Given the description of an element on the screen output the (x, y) to click on. 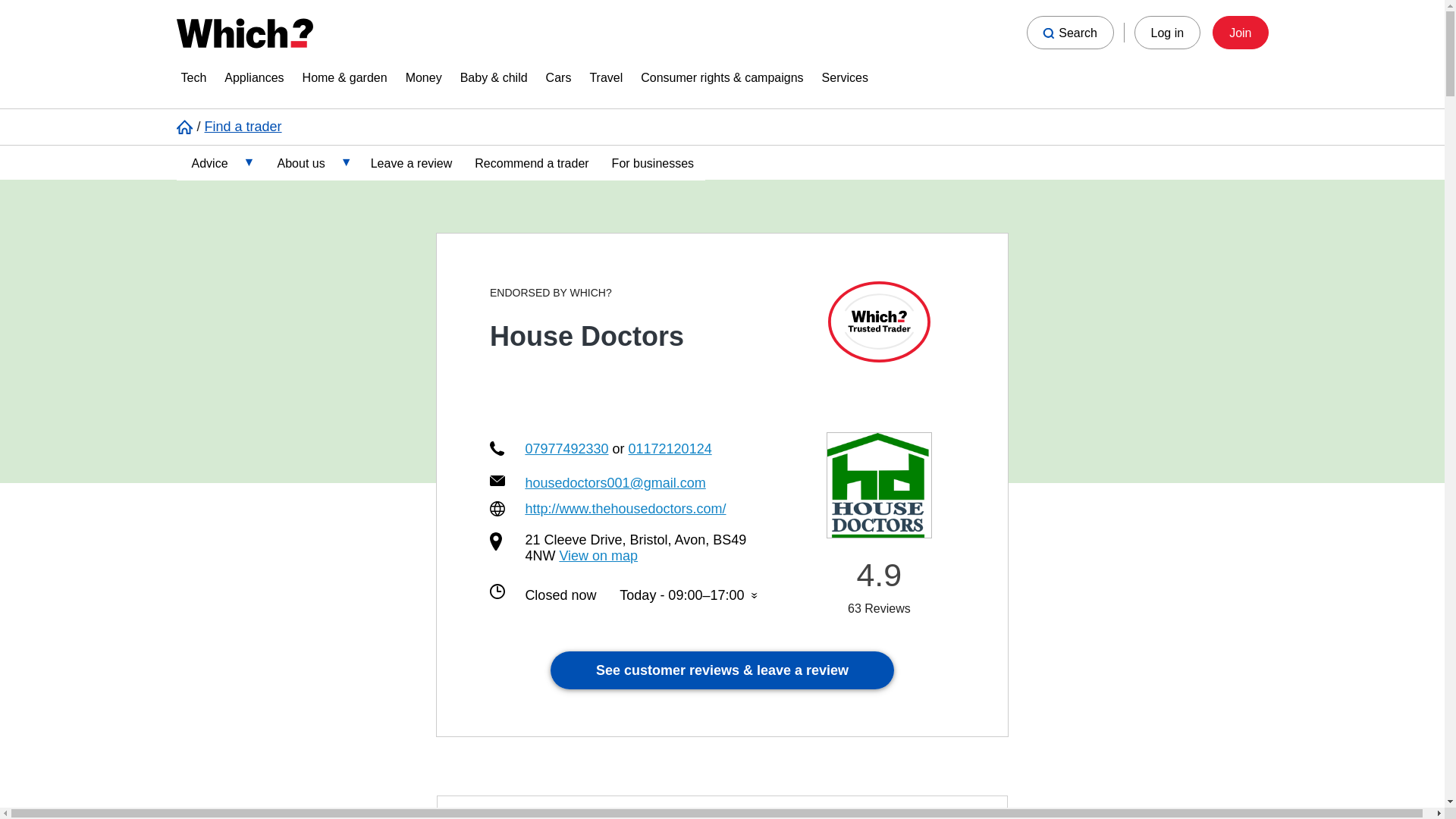
Click to see all opening hours (689, 595)
Join (1240, 32)
Search (1069, 32)
Log in (1167, 32)
Tech (193, 79)
